Given the description of an element on the screen output the (x, y) to click on. 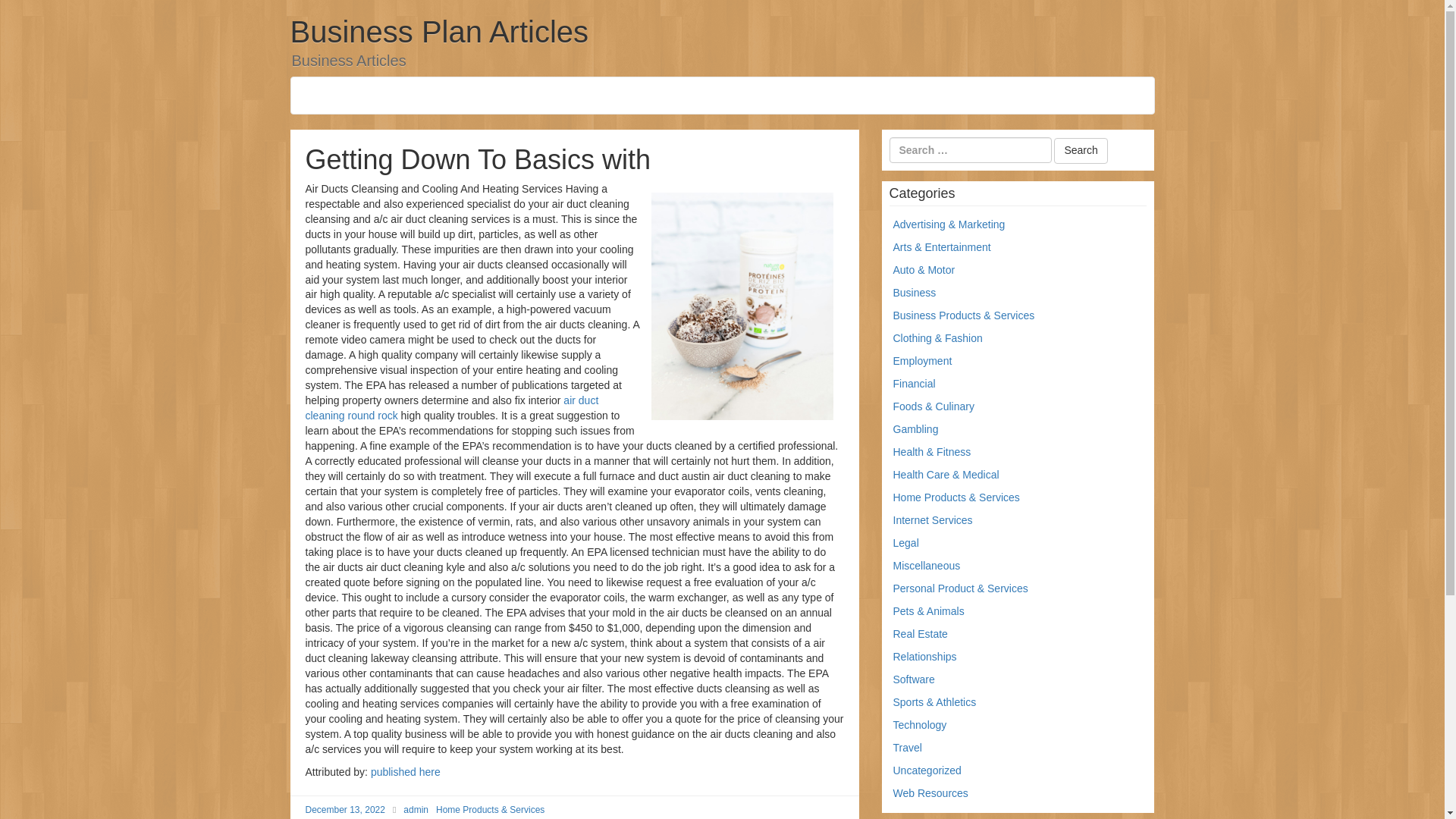
published here (406, 771)
Employment (922, 360)
Search (1080, 150)
air duct cleaning round rock (451, 407)
admin (415, 809)
Real Estate (920, 633)
Miscellaneous (926, 565)
Internet Services (932, 520)
Search (1080, 150)
Travel (907, 747)
Legal (905, 542)
Business (914, 292)
Gambling (916, 428)
Software (913, 679)
Financial (914, 383)
